Given the description of an element on the screen output the (x, y) to click on. 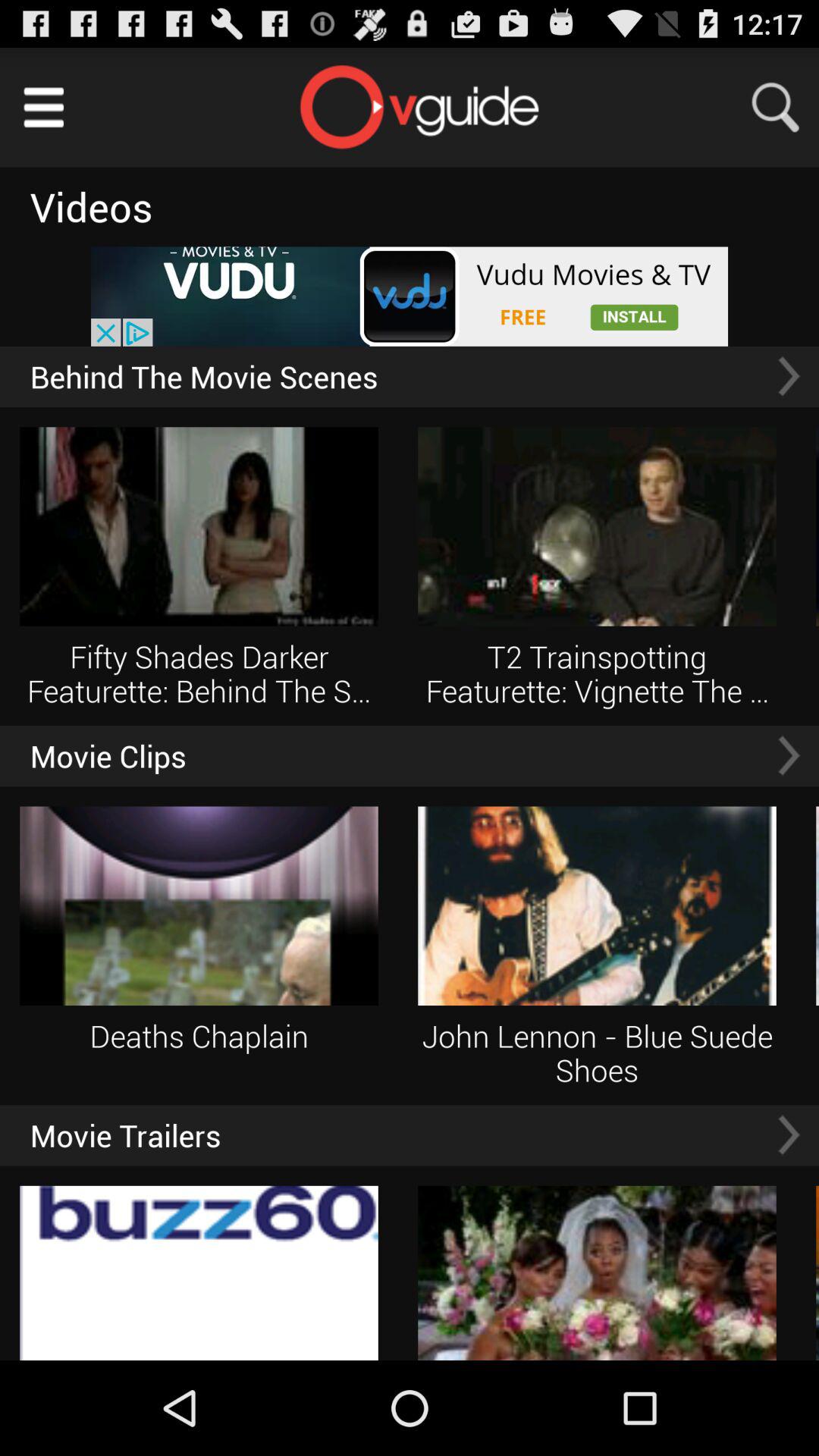
watch behind the movie scenes (789, 376)
